Given the description of an element on the screen output the (x, y) to click on. 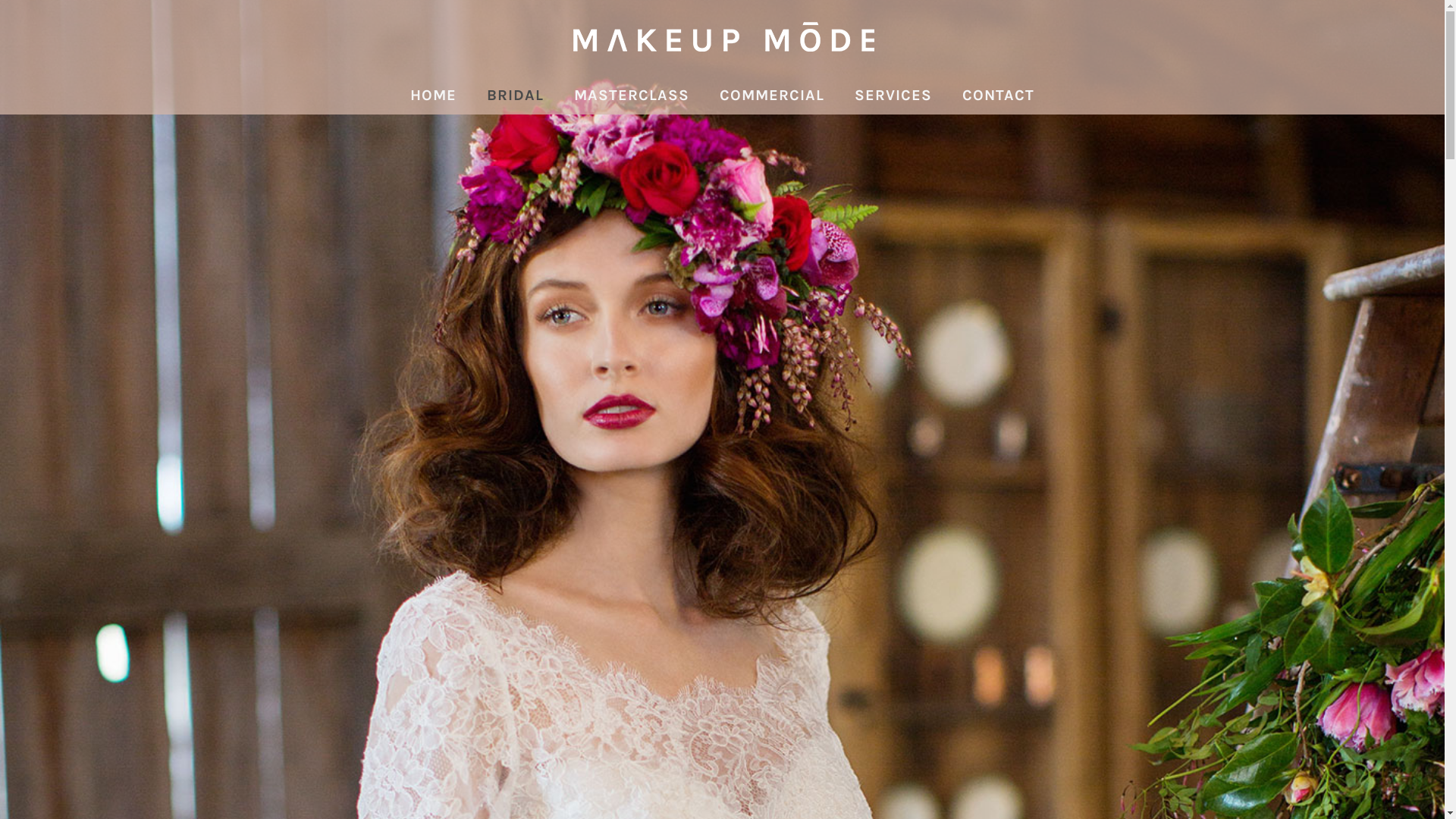
SERVICES Element type: text (893, 94)
CONTACT Element type: text (998, 94)
COMMERCIAL Element type: text (771, 94)
MASTERCLASS Element type: text (631, 94)
HOME Element type: text (433, 94)
BRIDAL Element type: text (514, 94)
